Given the description of an element on the screen output the (x, y) to click on. 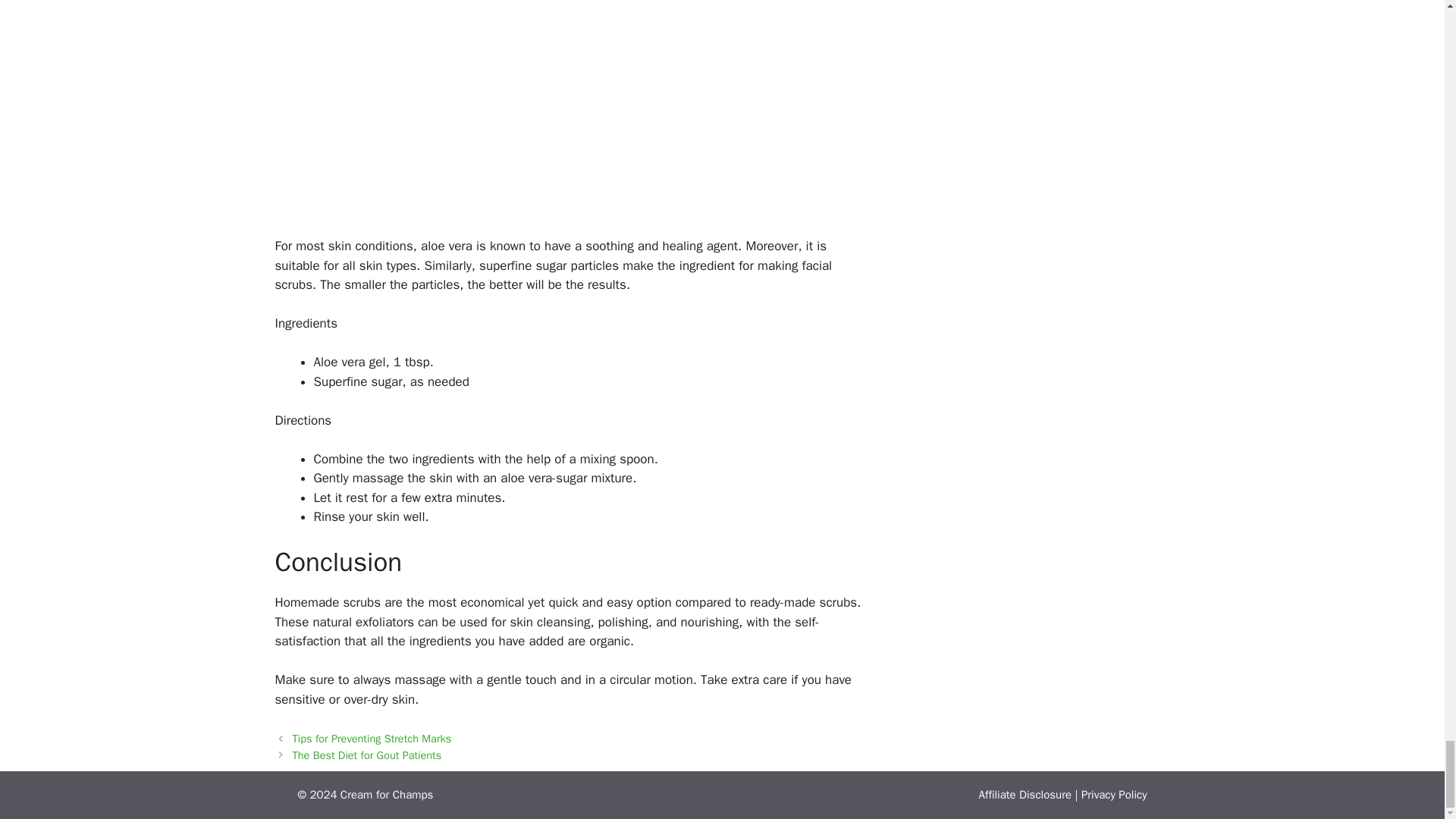
Tips for Preventing Stretch Marks (371, 738)
The Best Diet for Gout Patients (367, 755)
Privacy Policy (1114, 794)
Affiliate Disclosure (1024, 794)
